Given the description of an element on the screen output the (x, y) to click on. 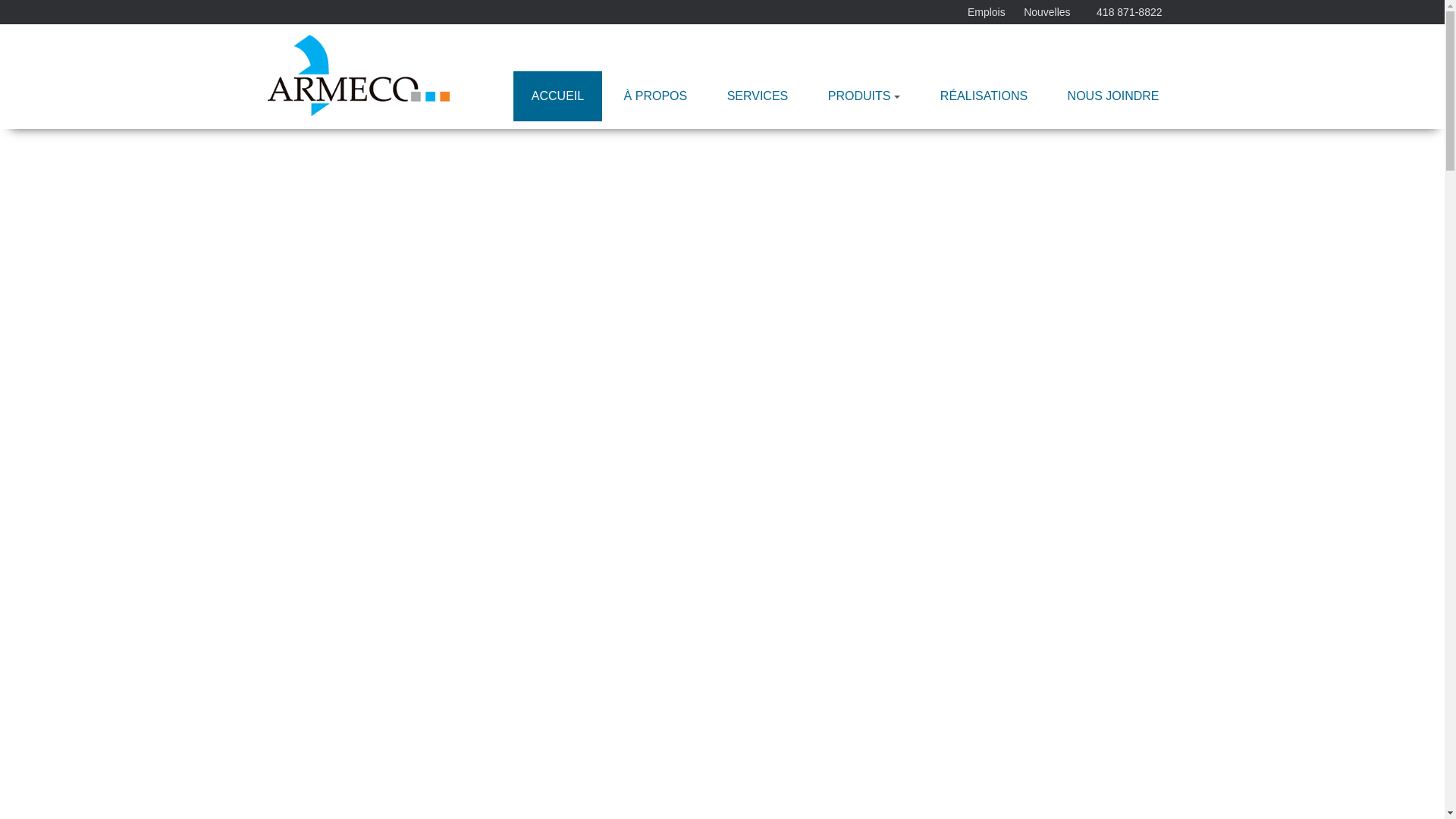
Nouvelles Element type: text (1046, 11)
NOUS JOINDRE Element type: text (1113, 96)
ACCUEIL Element type: text (557, 96)
PRODUITS Element type: text (864, 96)
SERVICES Element type: text (757, 96)
Emplois Element type: text (986, 11)
